Given the description of an element on the screen output the (x, y) to click on. 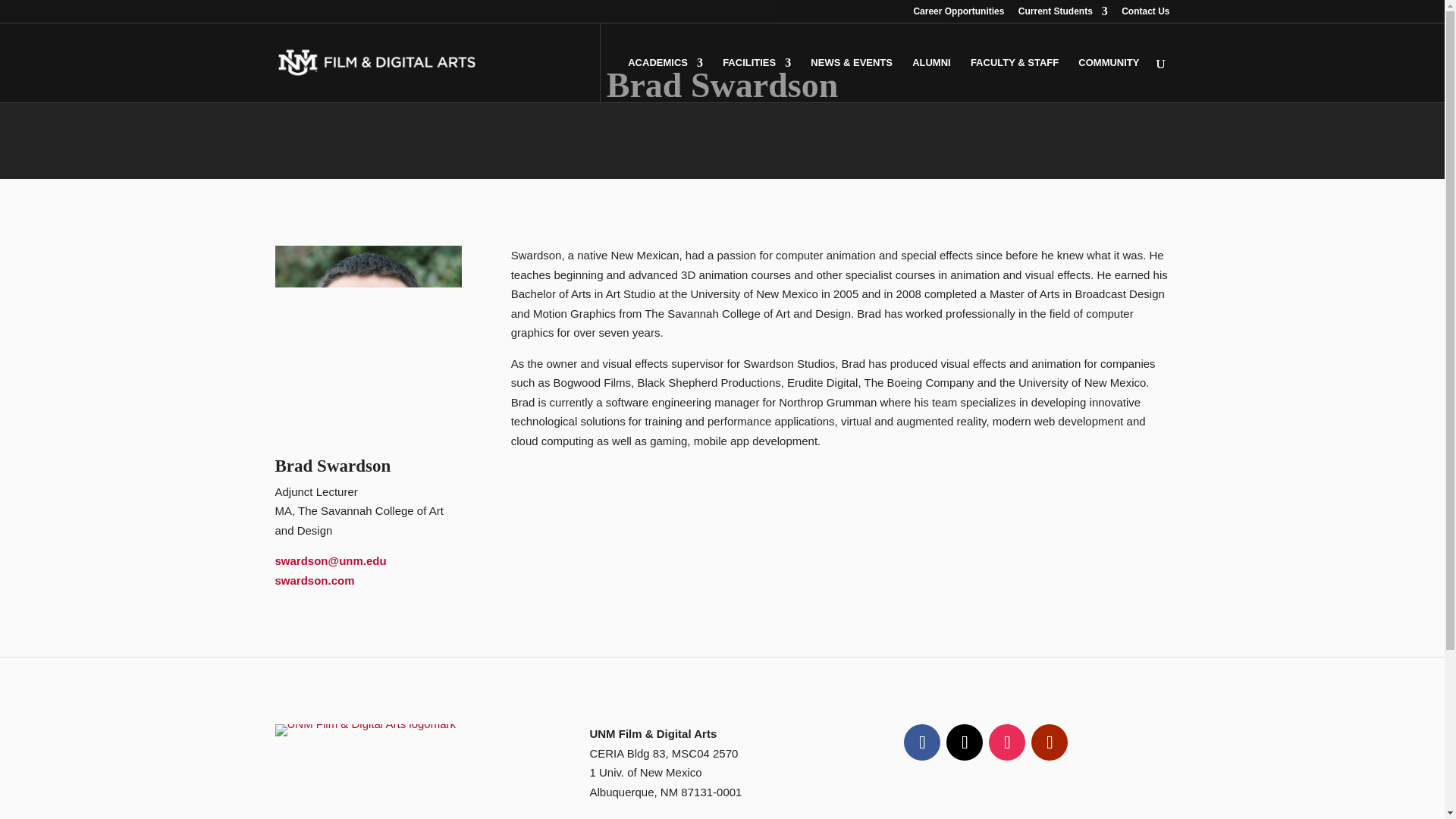
ACADEMICS (665, 79)
unm-film-digital-arts (365, 729)
Career Opportunities (958, 14)
swardson.com (314, 580)
Current Students (1062, 14)
Follow on X (964, 741)
Contact Us (1145, 14)
Follow on Instagram (1006, 741)
FACILITIES (756, 79)
brad-swardson (368, 338)
